Given the description of an element on the screen output the (x, y) to click on. 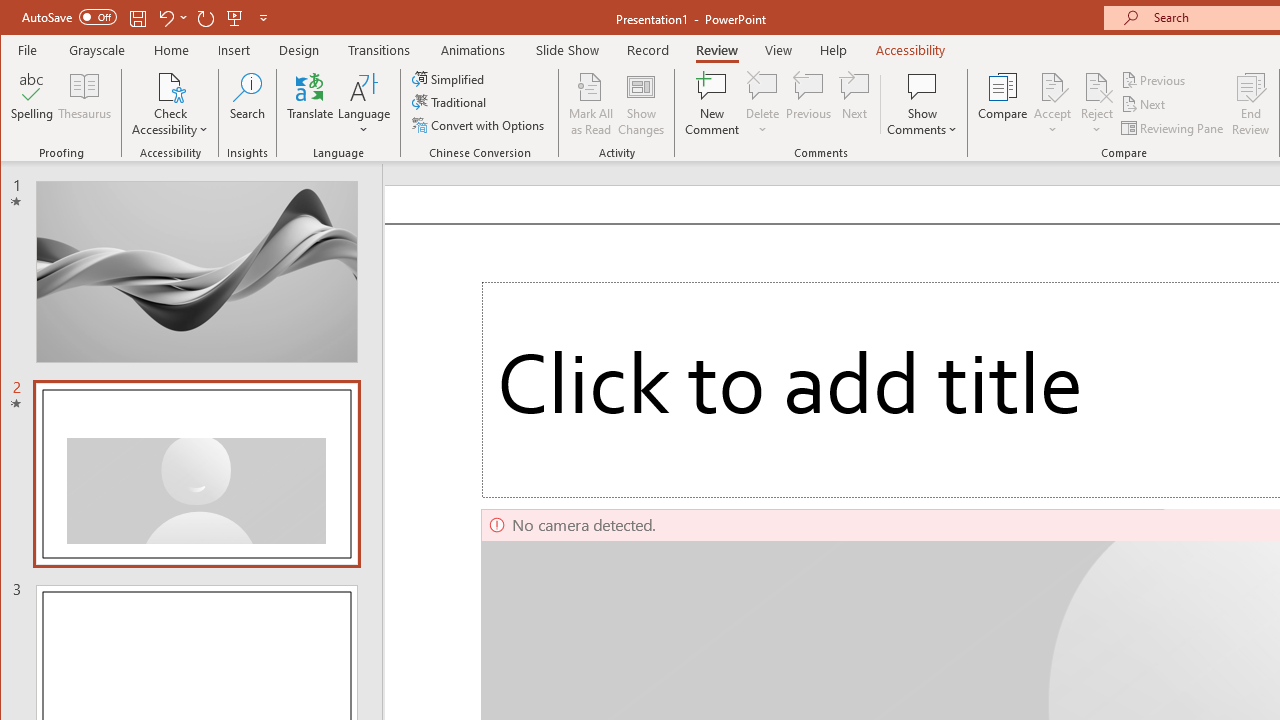
Language (363, 104)
Spelling... (32, 104)
Accept Change (1052, 86)
Next (1144, 103)
Mark All as Read (591, 104)
Traditional (450, 101)
Compare (1002, 104)
